Given the description of an element on the screen output the (x, y) to click on. 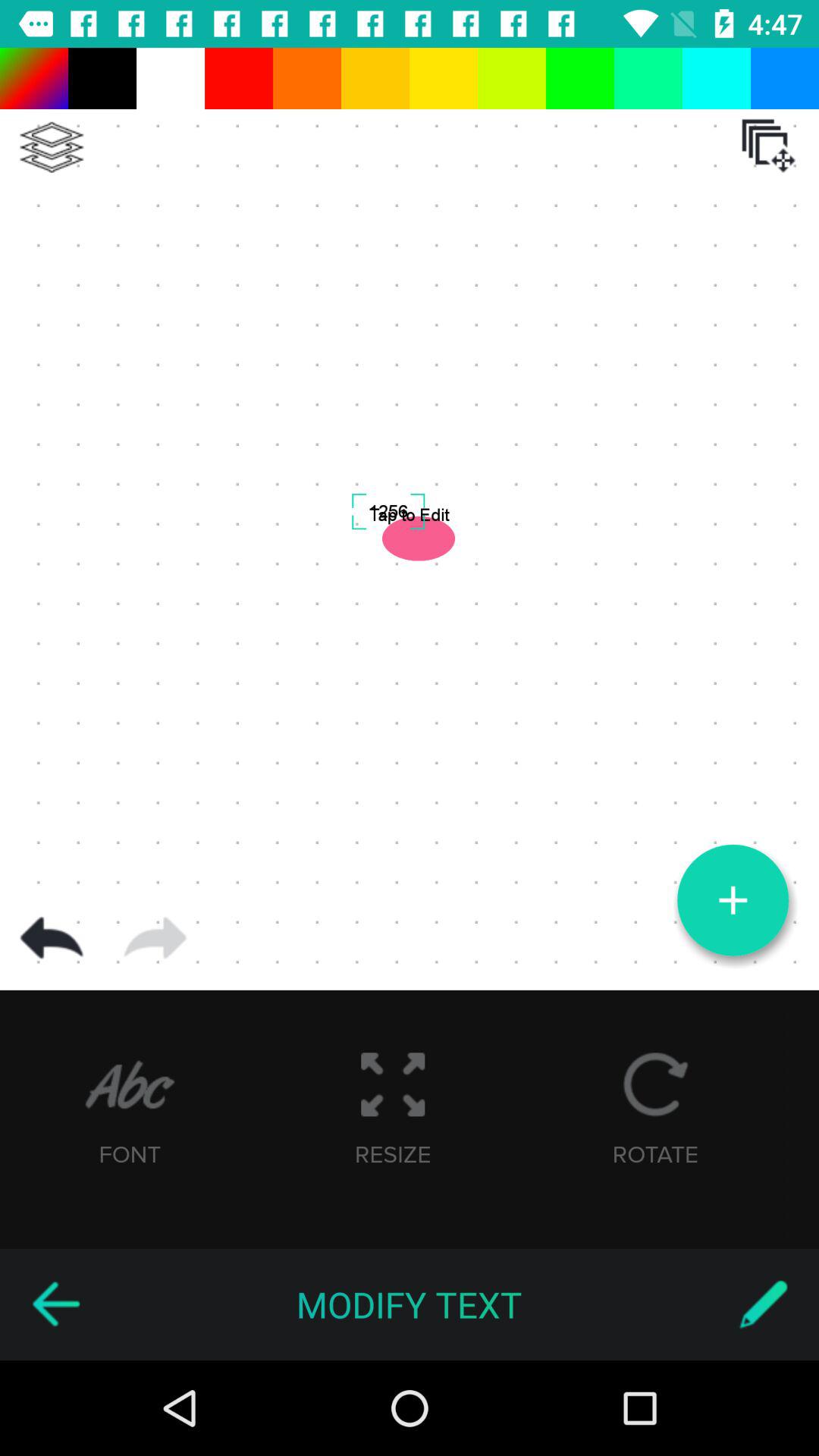
open layers (768, 145)
